Given the description of an element on the screen output the (x, y) to click on. 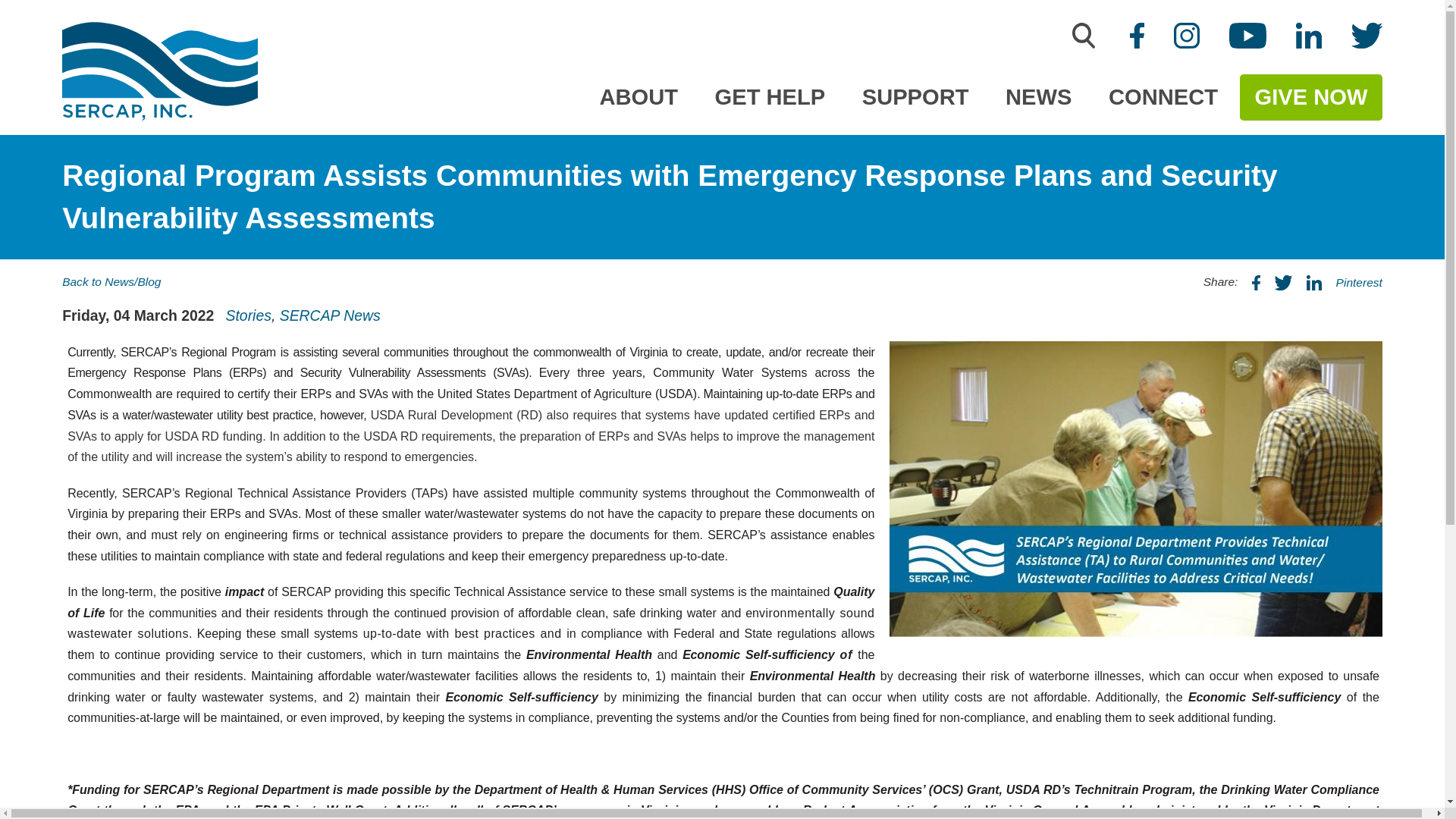
Youtube (1247, 35)
GET HELP (770, 97)
Instagram (1186, 35)
Support SERCAP (915, 97)
Twitter (1366, 35)
ABOUT (639, 97)
LinkedIn (1308, 35)
